Given the description of an element on the screen output the (x, y) to click on. 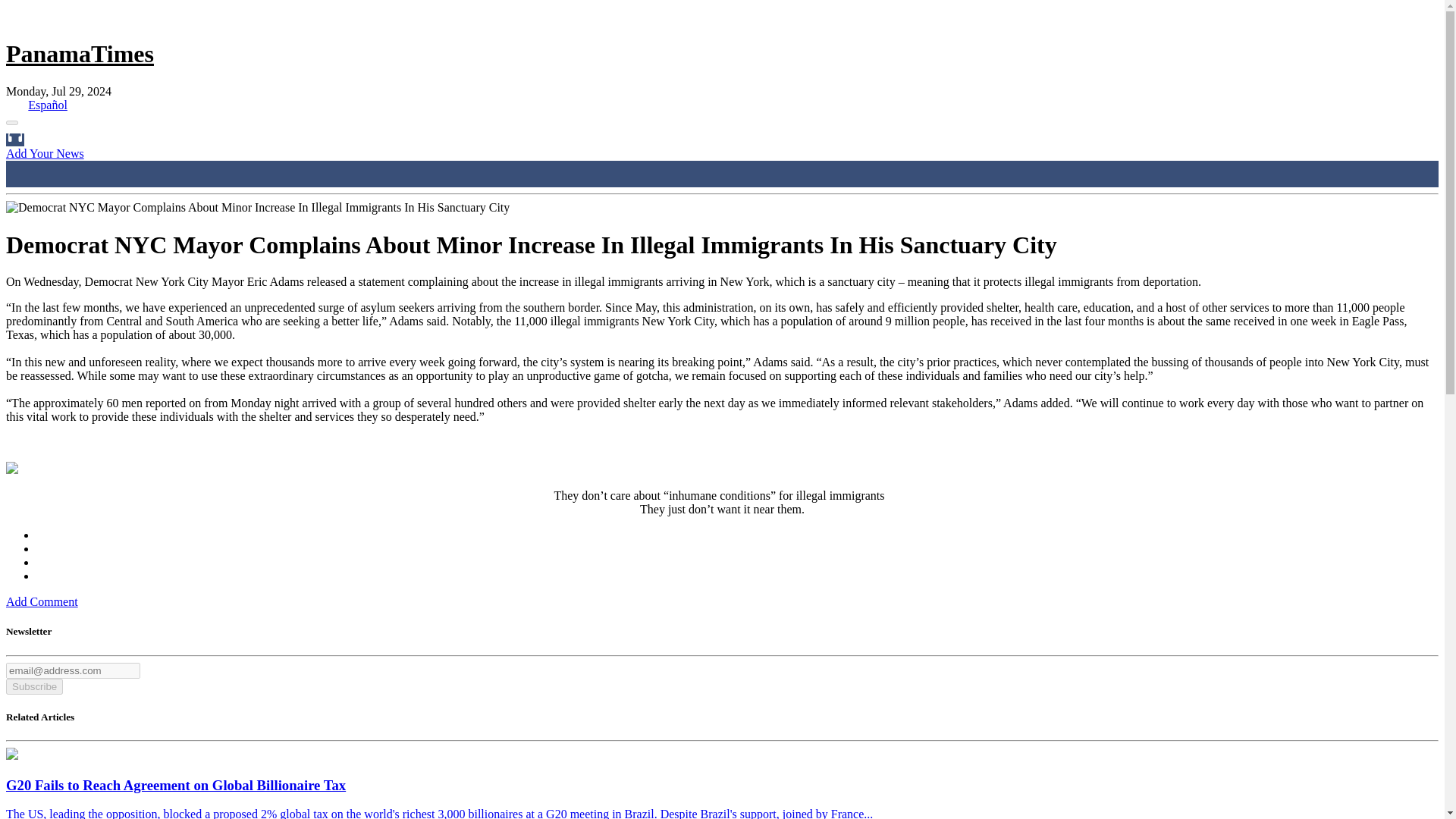
PanamaTimes (79, 53)
Subscribe (33, 686)
G20 Fails to Reach Agreement on Global Billionaire Tax (11, 755)
Add Comment (41, 601)
Add Your News (44, 153)
